Given the description of an element on the screen output the (x, y) to click on. 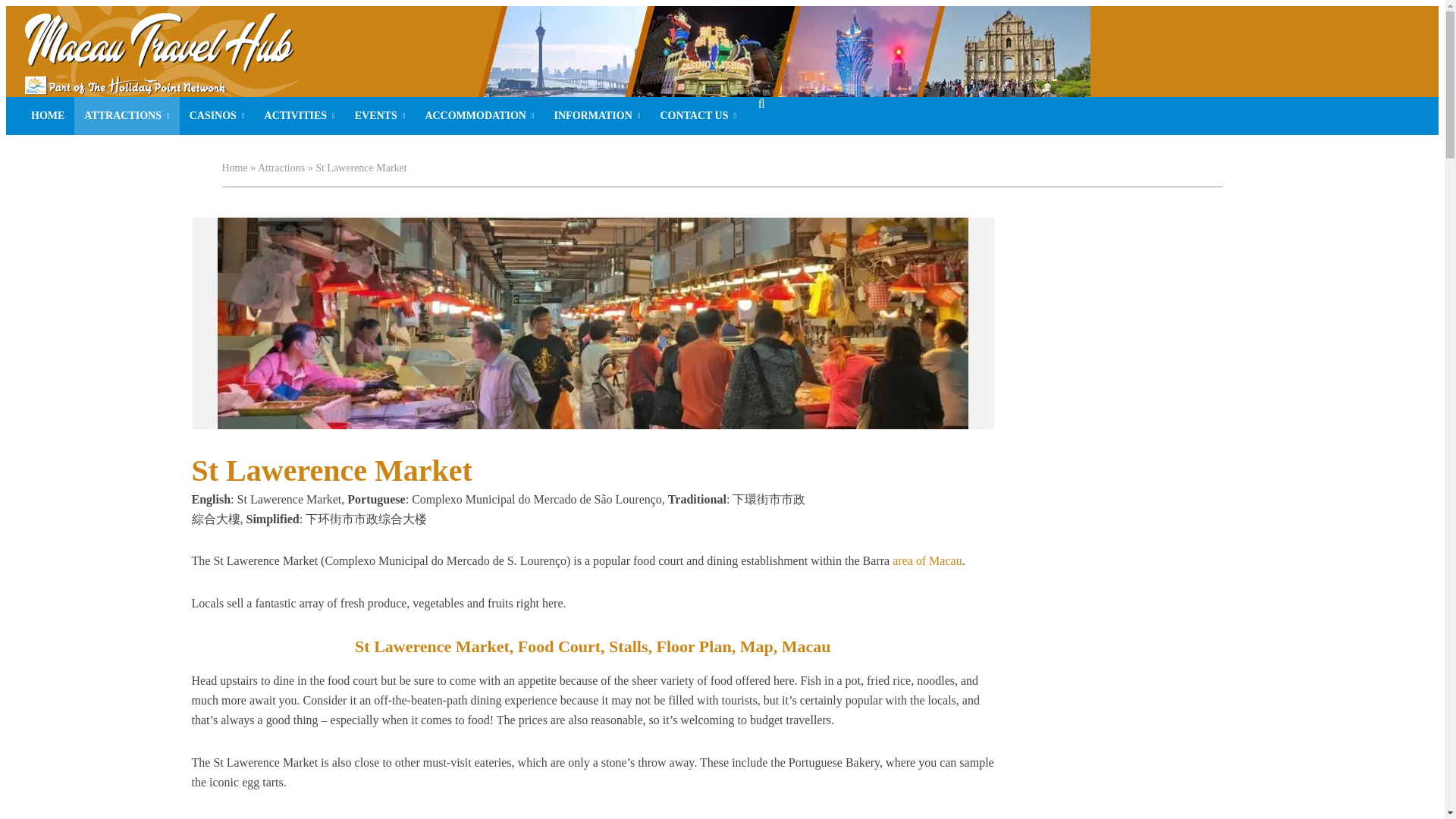
HOME (47, 116)
CASINOS (216, 116)
ATTRACTIONS (126, 116)
